Given the description of an element on the screen output the (x, y) to click on. 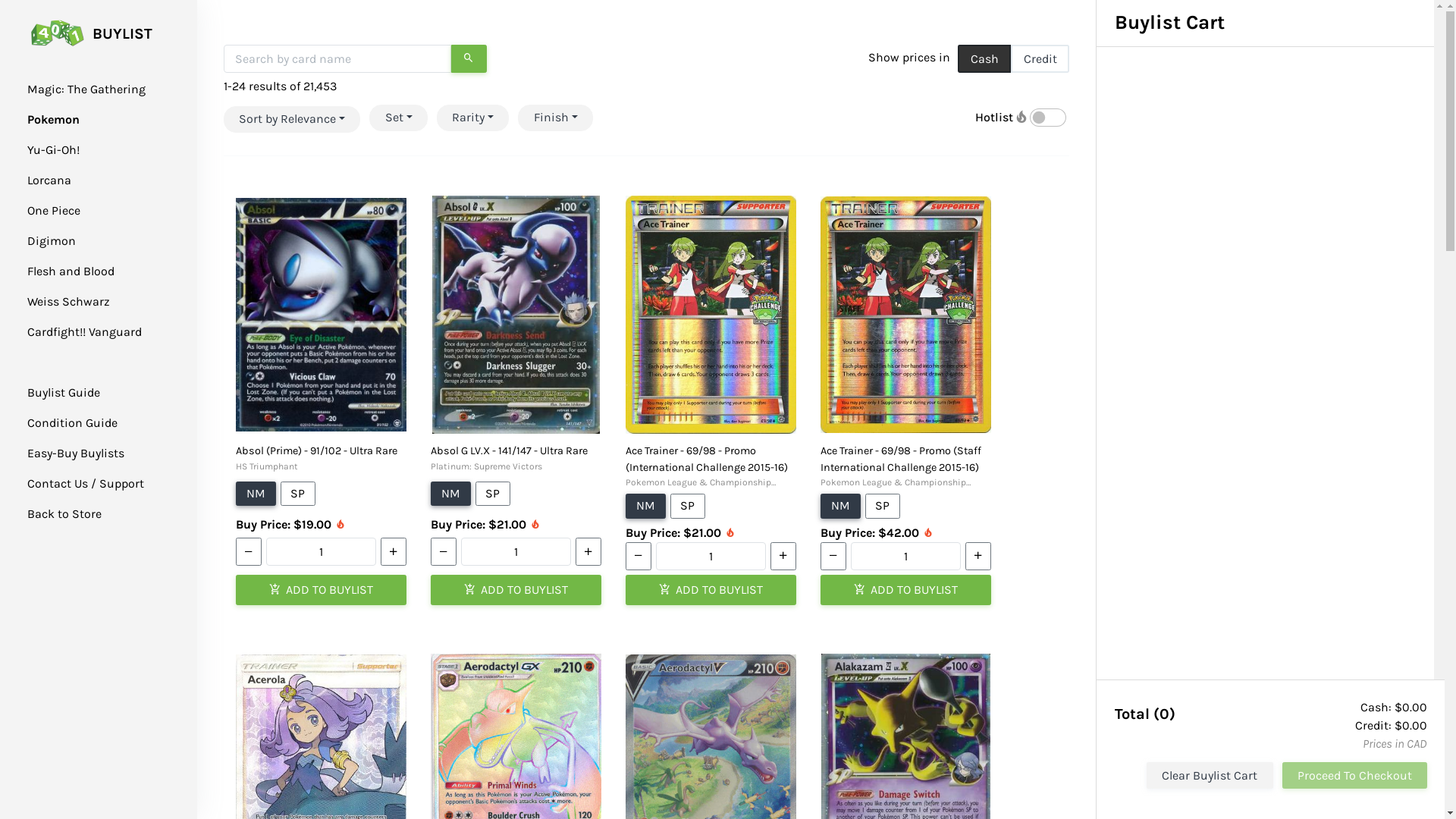
SP Element type: text (688, 505)
Finish Element type: text (554, 117)
SP Element type: text (298, 493)
Buylist Guide Element type: text (63, 392)
Clear Buylist Cart Element type: text (1209, 775)
Magic: The Gathering Element type: text (86, 88)
SP Element type: text (493, 493)
ADD TO BUYLIST Element type: text (515, 589)
Lorcana Element type: text (49, 179)
Credit Element type: text (1039, 58)
ADD TO BUYLIST Element type: text (710, 589)
NM Element type: text (450, 493)
Easy-Buy Buylists Element type: text (75, 452)
ADD TO BUYLIST Element type: text (320, 589)
BUYLIST Element type: text (89, 44)
Cardfight!! Vanguard Element type: text (84, 331)
Set Element type: text (397, 117)
Weiss Schwarz Element type: text (68, 301)
NM Element type: text (255, 493)
One Piece Element type: text (53, 210)
Rarity Element type: text (472, 117)
Contact Us / Support Element type: text (85, 483)
SP Element type: text (882, 505)
NM Element type: text (645, 505)
Cash Element type: text (983, 58)
Condition Guide Element type: text (72, 422)
Yu-Gi-Oh! Element type: text (53, 149)
ADD TO BUYLIST Element type: text (905, 589)
Back to Store Element type: text (64, 513)
Sort by Relevance Element type: text (291, 119)
Flesh and Blood Element type: text (70, 270)
Proceed To Checkout Element type: text (1354, 775)
NM Element type: text (840, 505)
Digimon Element type: text (51, 240)
